Given the description of an element on the screen output the (x, y) to click on. 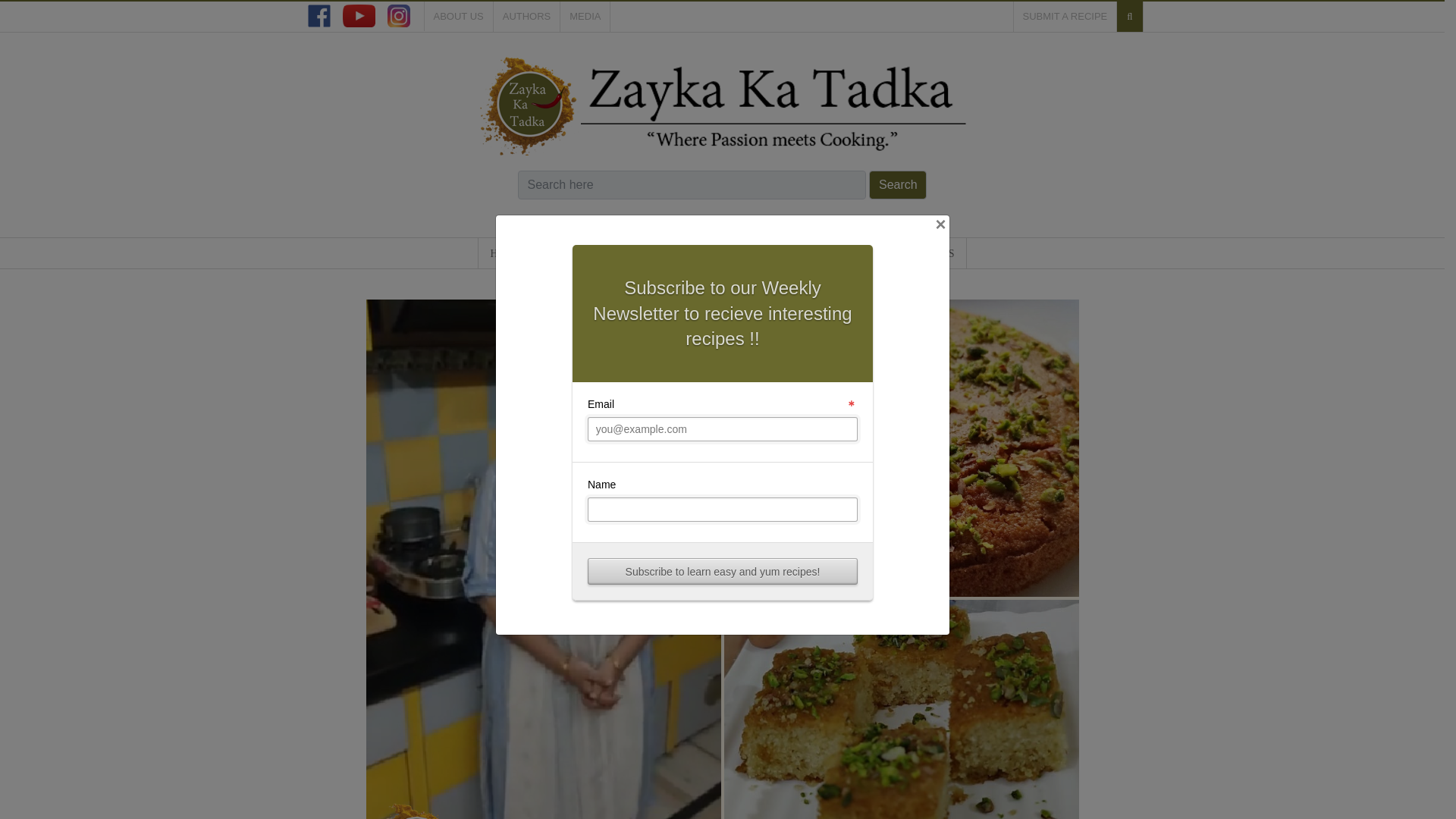
instagram (397, 15)
SUBMIT A RECIPE (1064, 16)
RECIPES (567, 252)
AUTHORS (526, 16)
ADD RECIPE (655, 252)
HOME (505, 252)
Search... (690, 184)
MEDIA (585, 16)
ABOUT US (459, 16)
facebook (318, 15)
Search (897, 184)
youtube (358, 15)
